Given the description of an element on the screen output the (x, y) to click on. 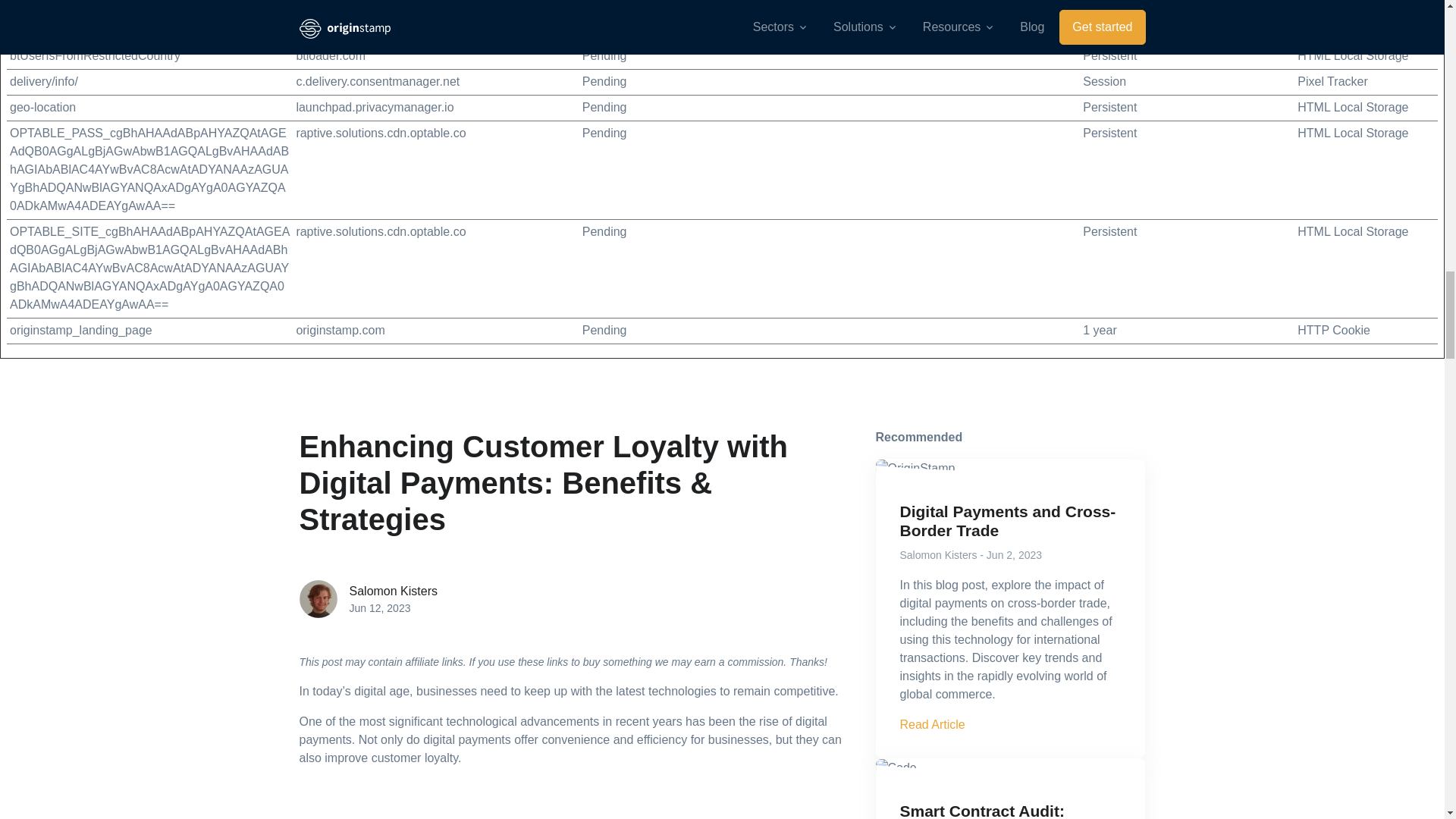
Adthrive (317, 5)
